Given the description of an element on the screen output the (x, y) to click on. 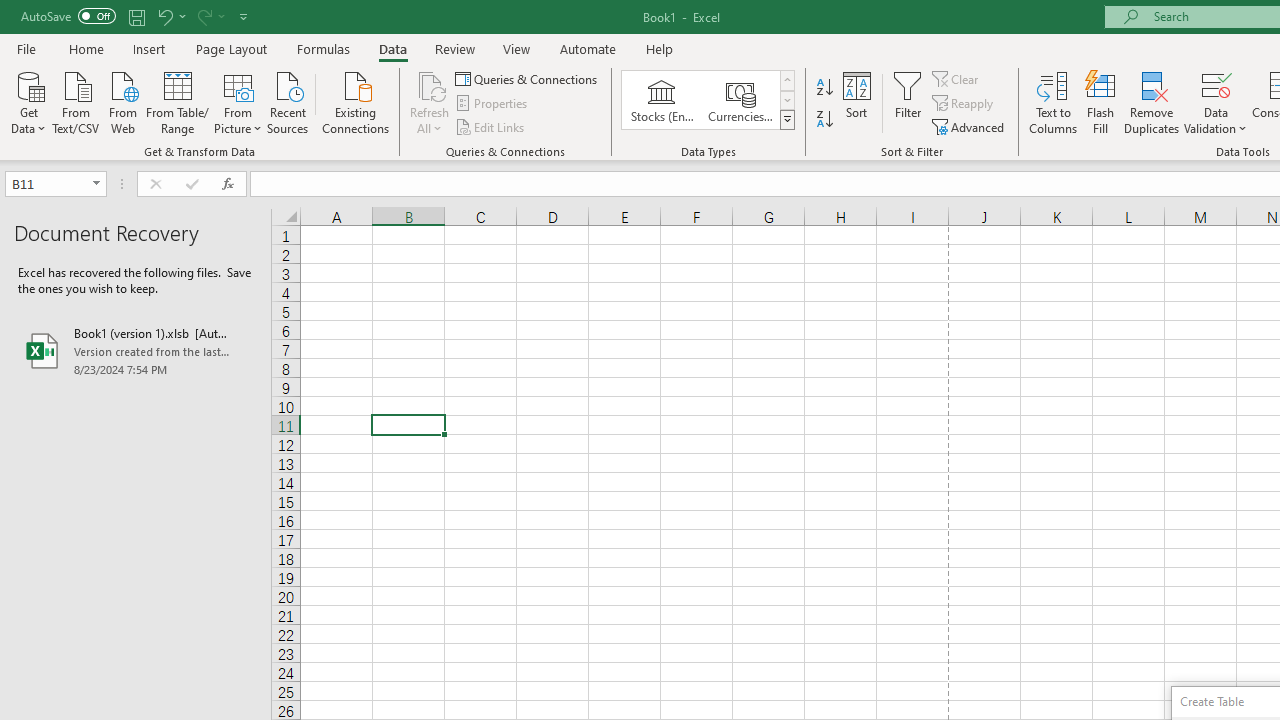
Automate (588, 48)
Recent Sources (287, 101)
File Tab (26, 48)
Edit Links (491, 126)
View (517, 48)
Row Down (786, 100)
Data Validation... (1215, 102)
From Picture (238, 101)
Flash Fill (1101, 102)
Review (454, 48)
Clear (957, 78)
Formulas (323, 48)
Properties (492, 103)
